Given the description of an element on the screen output the (x, y) to click on. 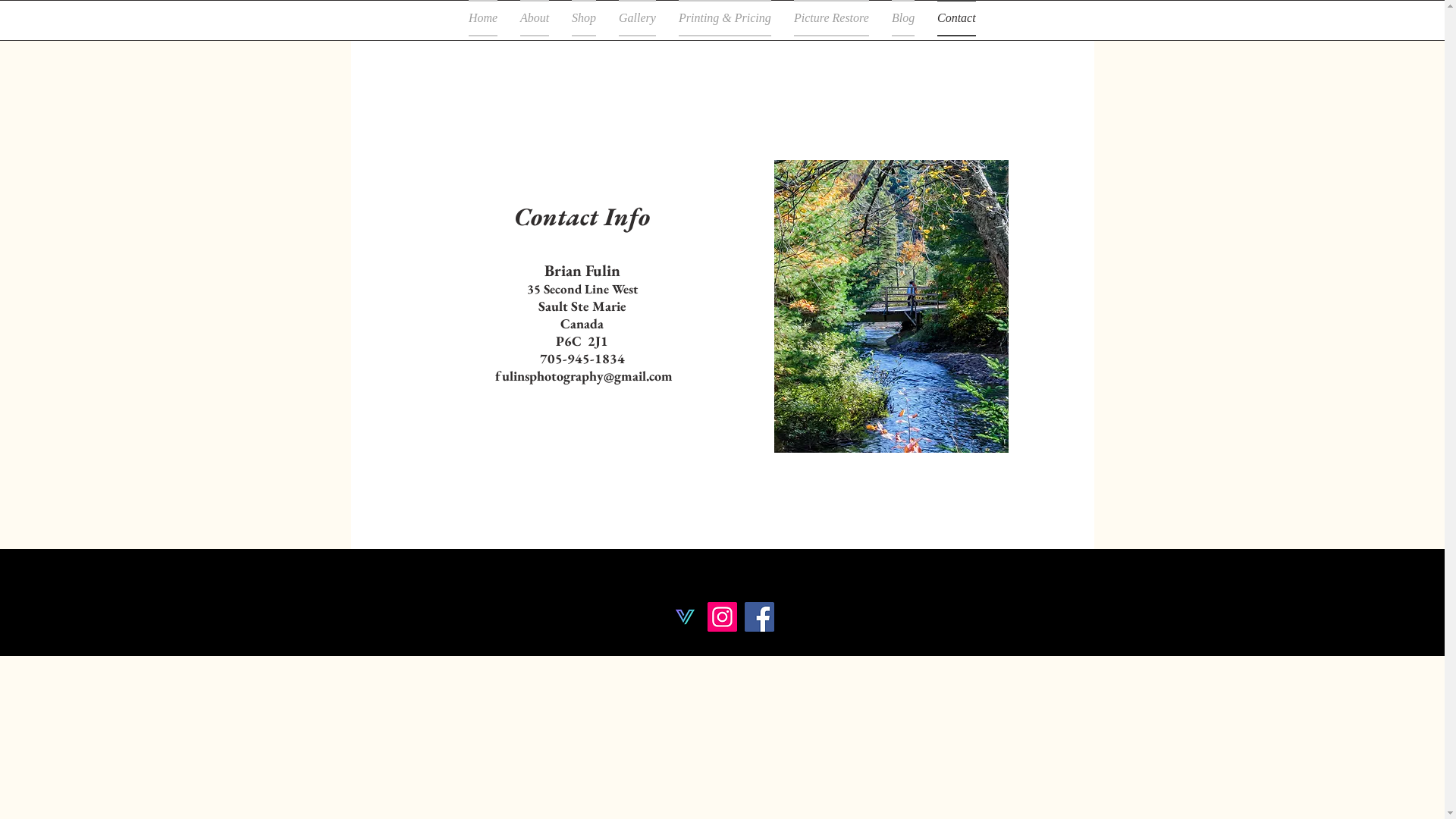
Gallery Element type: text (637, 18)
Picture Restore Element type: text (831, 18)
fulinsphotography@gmail.com Element type: text (582, 375)
Printing & Pricing Element type: text (724, 18)
About Element type: text (534, 18)
Contact Element type: text (956, 18)
Blog Element type: text (902, 18)
Shop Element type: text (583, 18)
Home Element type: text (482, 18)
